Given the description of an element on the screen output the (x, y) to click on. 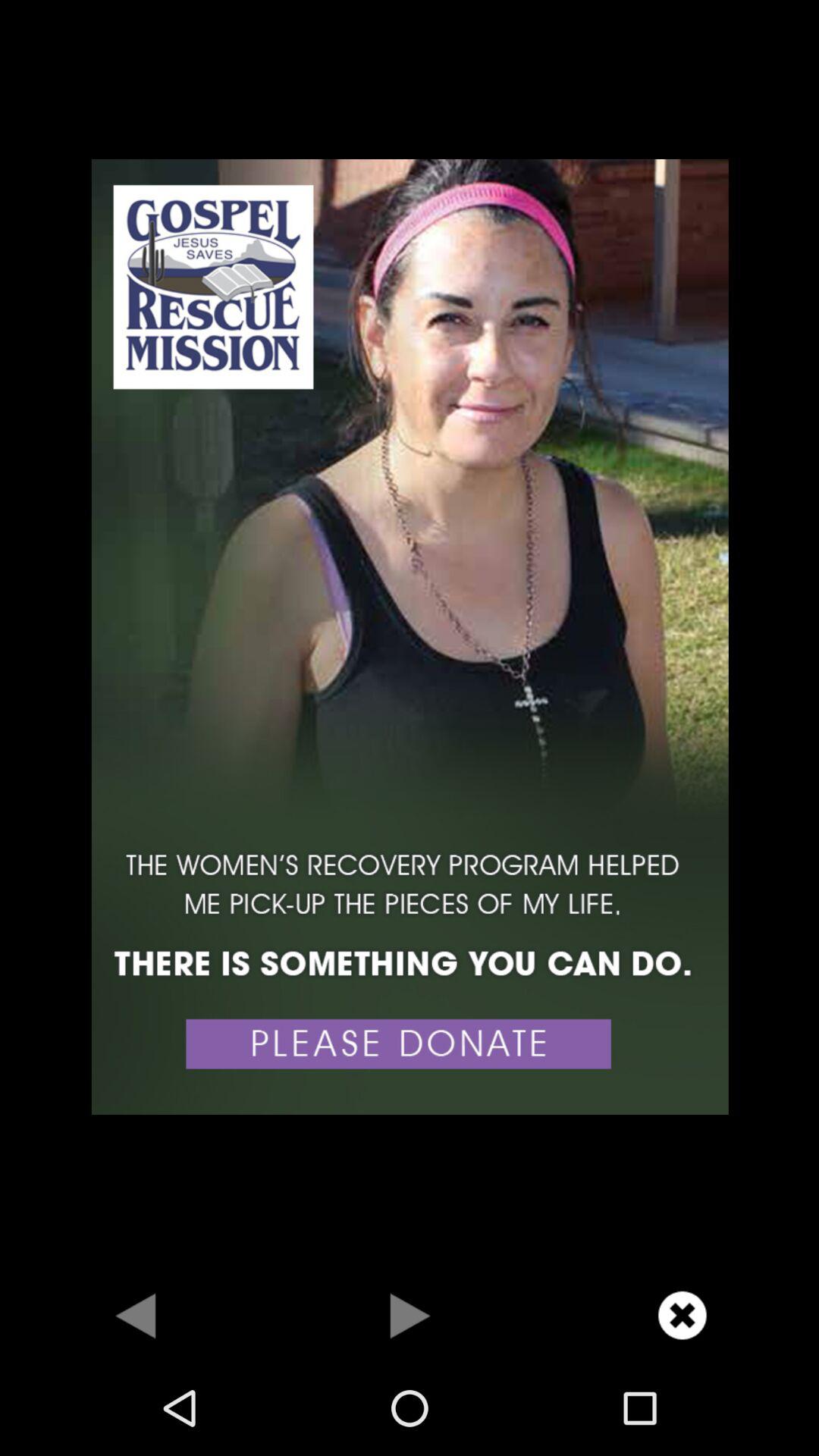
go forward (409, 1315)
